Given the description of an element on the screen output the (x, y) to click on. 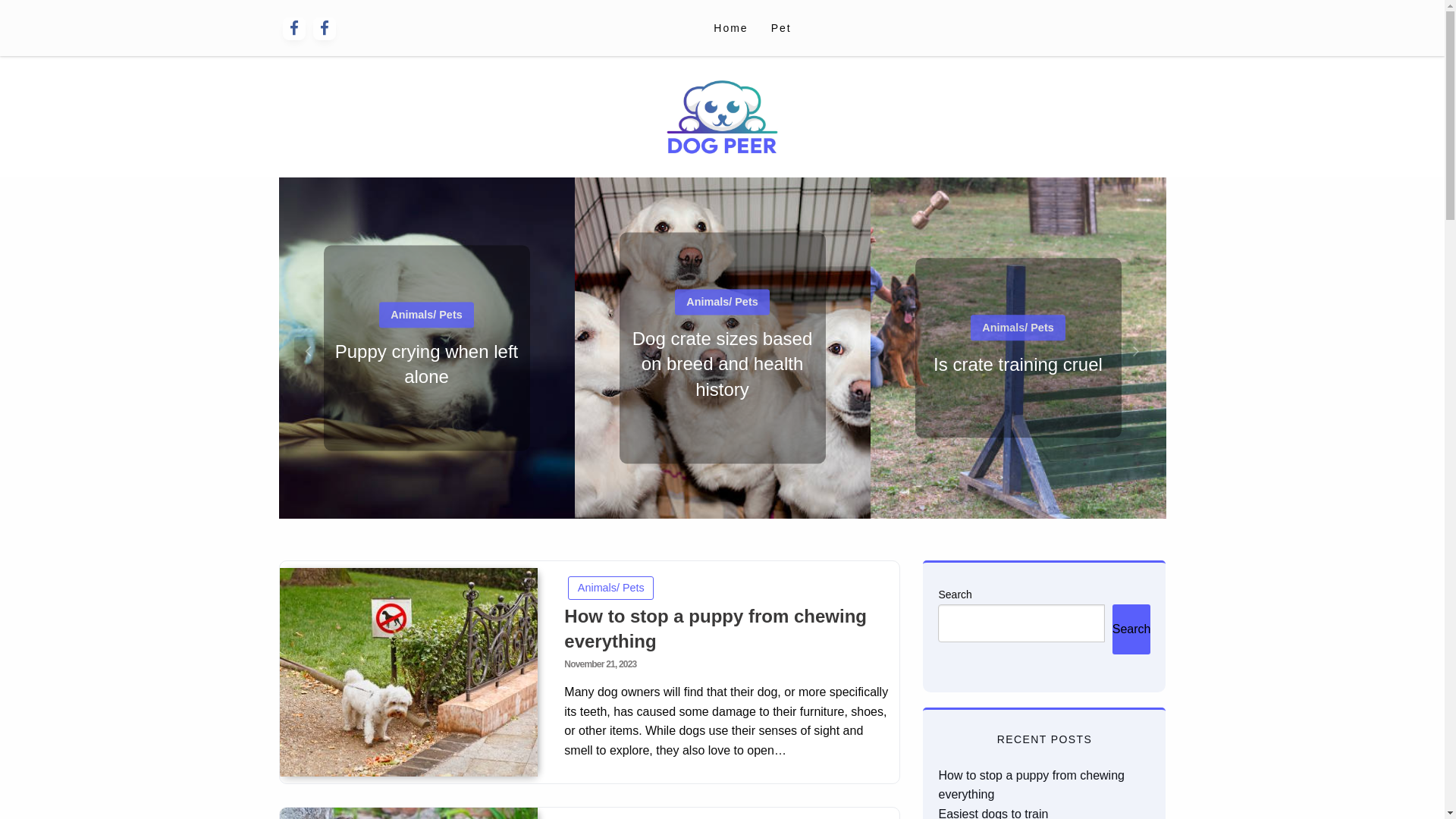
How to stop a puppy from chewing everything Element type: text (715, 628)
My dog peed on my bed what does this mean Element type: text (1018, 364)
Search Element type: text (1131, 629)
How to stop a puppy from chewing everything Element type: text (1030, 784)
Animals/ Pets Element type: text (426, 301)
Dog crate sizes based on breed and health history Element type: hover (722, 347)
Animals/ Pets Element type: text (610, 587)
Dog Peer Element type: text (356, 180)
Animals/ Pets Element type: text (721, 327)
Puppy crying when left alone Element type: hover (426, 347)
Animals/ Pets Element type: text (1017, 301)
How to stop a puppy from chewing everything Element type: hover (408, 671)
November 21, 2023 Element type: text (600, 663)
How to stop a puppy from chewing everything Element type: text (426, 364)
Pet Element type: text (781, 27)
Home Element type: text (730, 27)
Is crate training cruel Element type: hover (1018, 347)
Easiest dogs to train Element type: text (722, 364)
